Given the description of an element on the screen output the (x, y) to click on. 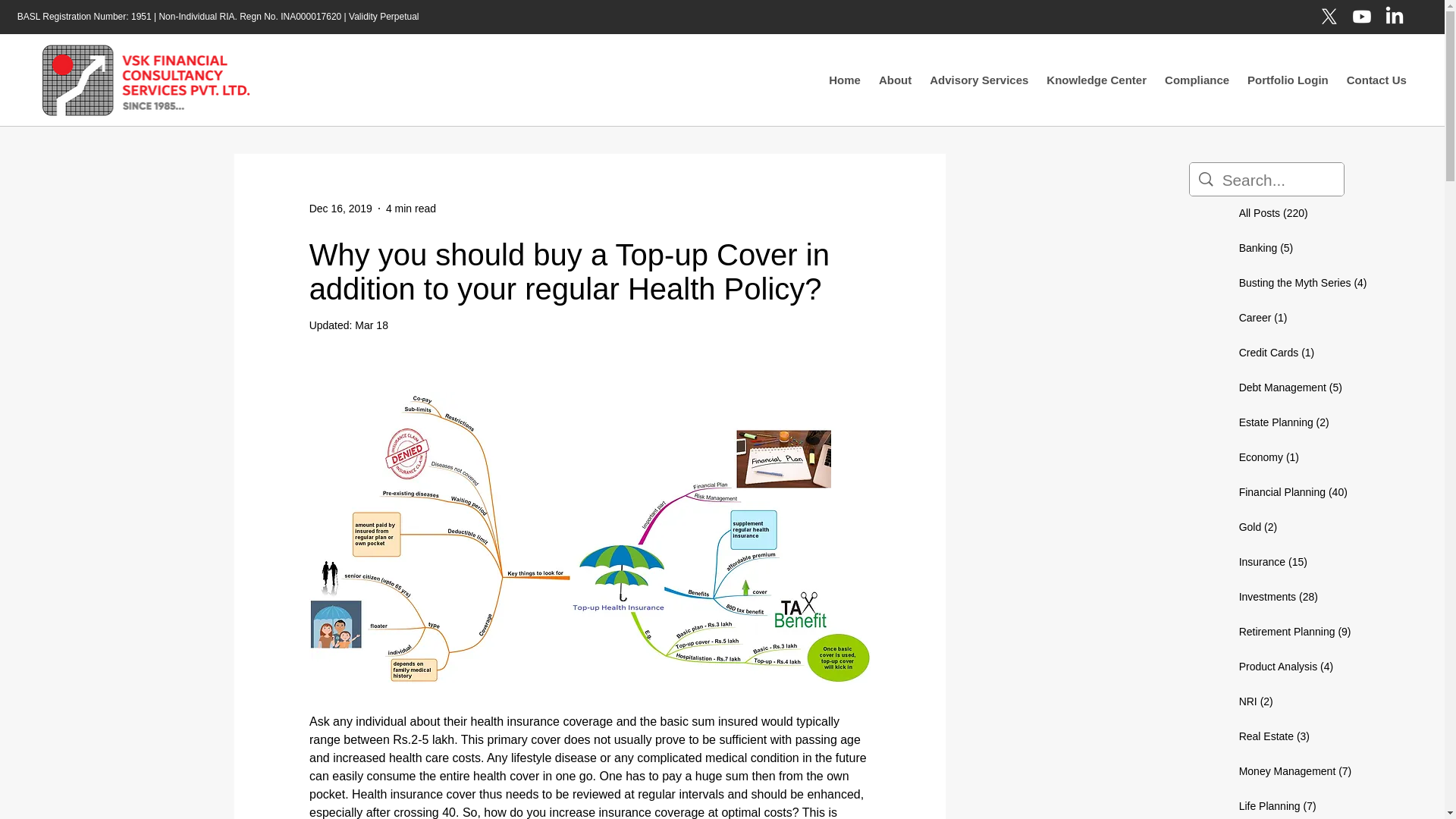
Portfolio Login (1288, 79)
Dec 16, 2019 (340, 208)
4 min read (410, 208)
Home (844, 79)
Mar 18 (371, 325)
Contact Us (1376, 79)
